Given the description of an element on the screen output the (x, y) to click on. 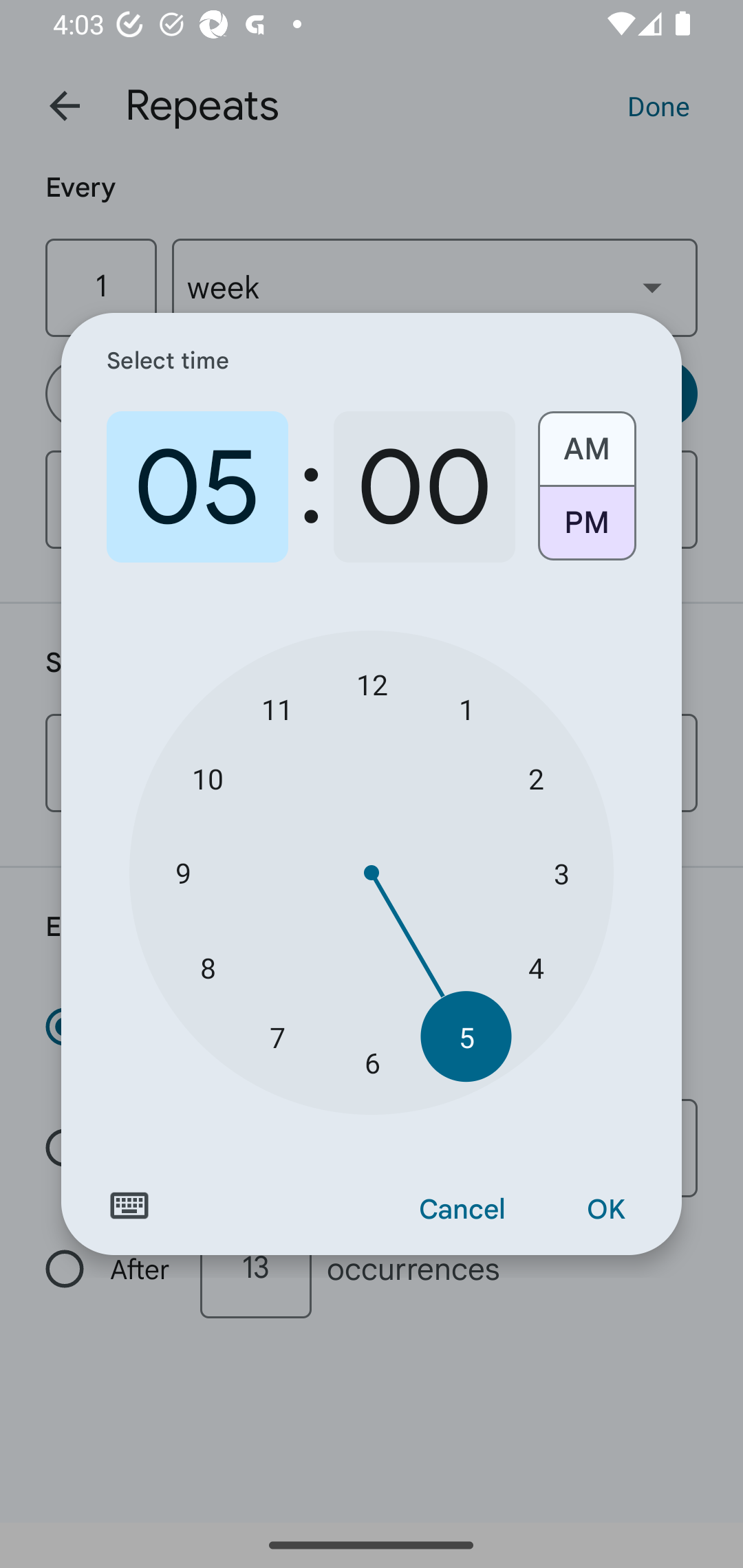
AM (586, 441)
05 5 o'clock (197, 486)
00 0 minutes (424, 486)
PM (586, 529)
12 12 o'clock (371, 683)
11 11 o'clock (276, 708)
1 1 o'clock (466, 708)
10 10 o'clock (207, 778)
2 2 o'clock (535, 778)
9 9 o'clock (182, 872)
3 3 o'clock (561, 872)
8 8 o'clock (207, 966)
4 4 o'clock (535, 966)
7 7 o'clock (276, 1035)
5 5 o'clock (466, 1035)
6 6 o'clock (371, 1062)
Switch to text input mode for the time input. (128, 1205)
Cancel (462, 1209)
OK (605, 1209)
